Given the description of an element on the screen output the (x, y) to click on. 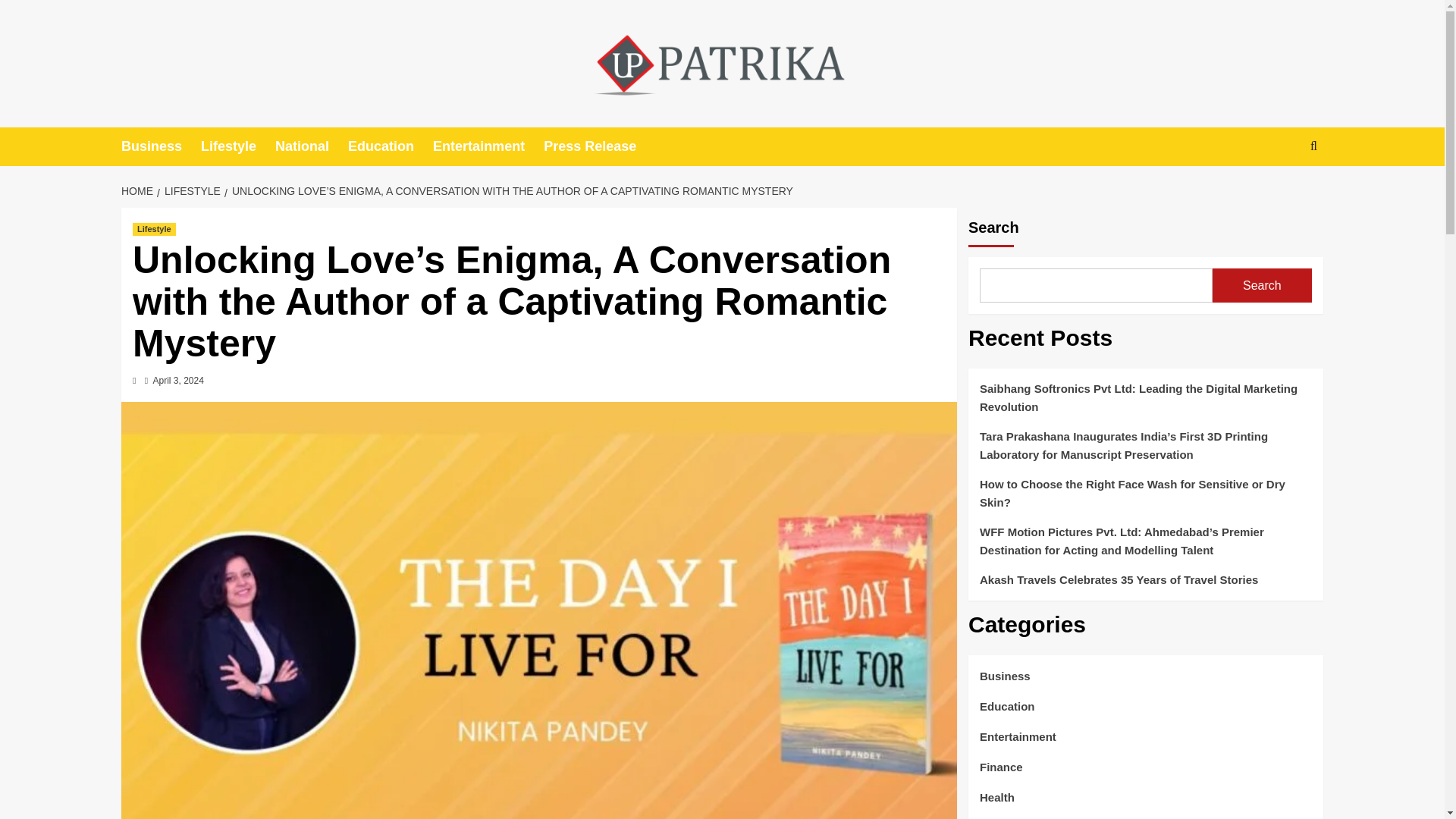
Lifestyle (154, 228)
LIFESTYLE (190, 191)
Business (160, 146)
Press Release (599, 146)
Search (1278, 192)
HOME (138, 191)
Lifestyle (237, 146)
Education (389, 146)
Entertainment (487, 146)
April 3, 2024 (177, 380)
